Given the description of an element on the screen output the (x, y) to click on. 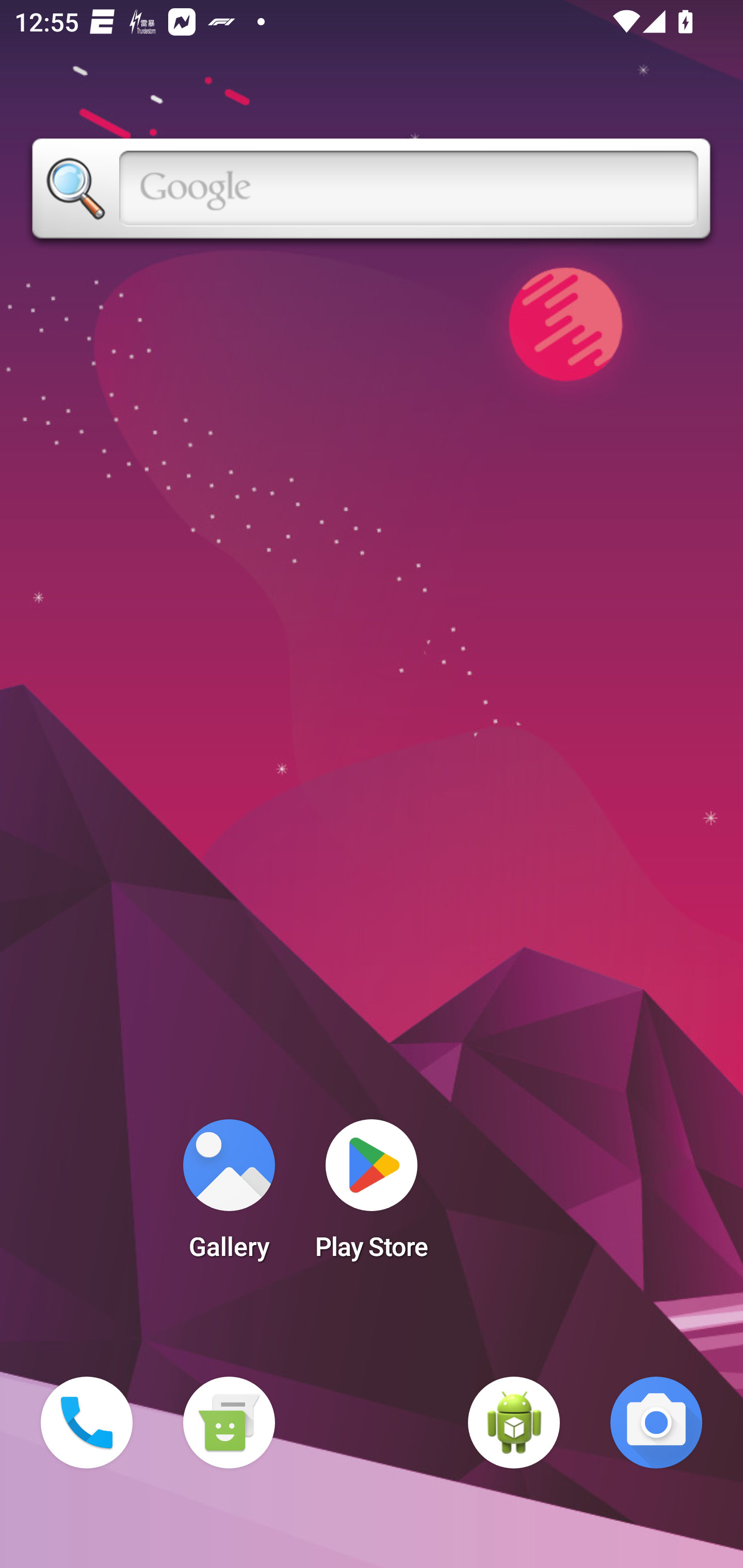
Gallery (228, 1195)
Play Store (371, 1195)
Phone (86, 1422)
Messaging (228, 1422)
WebView Browser Tester (513, 1422)
Camera (656, 1422)
